Given the description of an element on the screen output the (x, y) to click on. 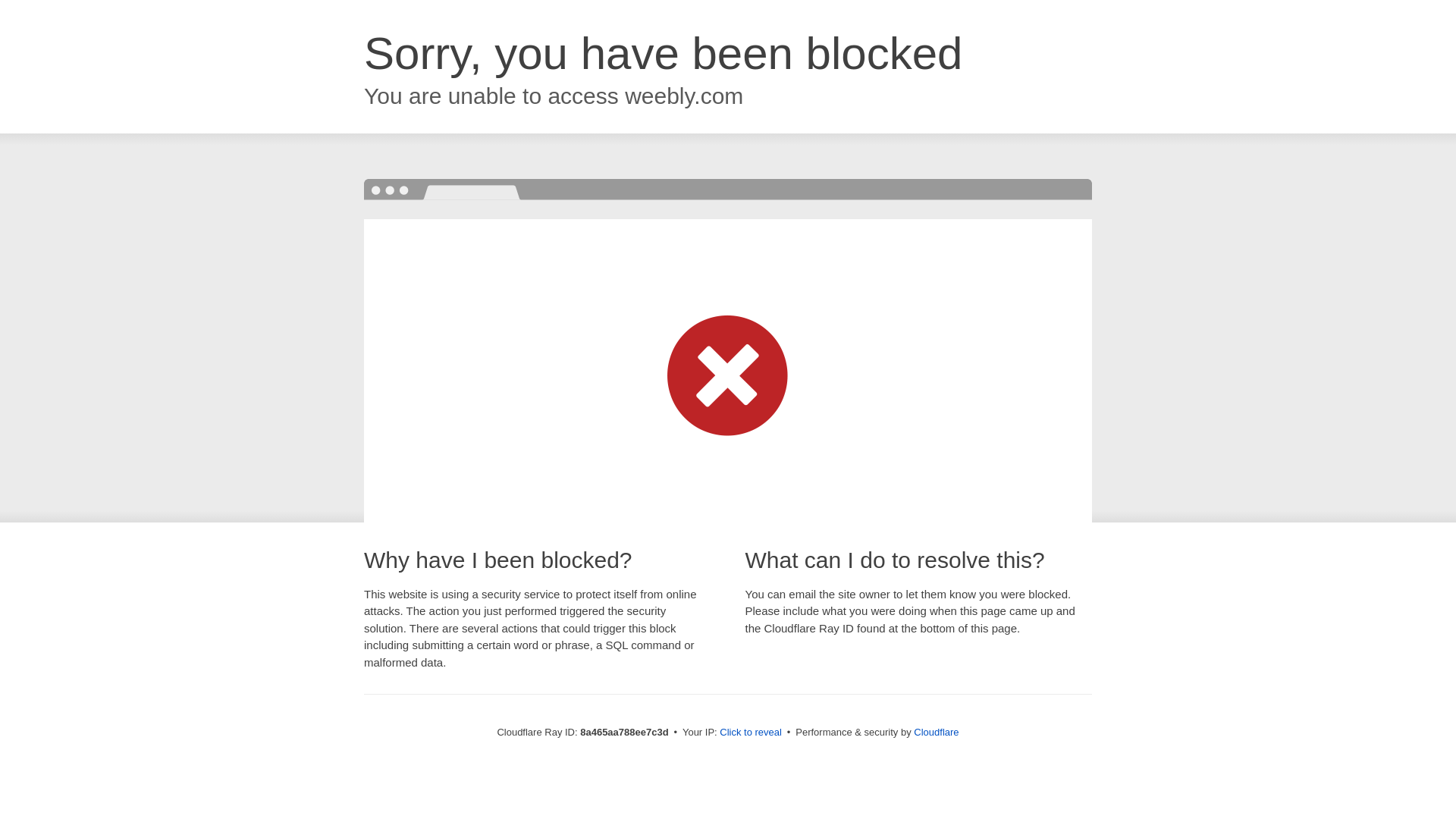
Click to reveal (750, 732)
Cloudflare (936, 731)
